Given the description of an element on the screen output the (x, y) to click on. 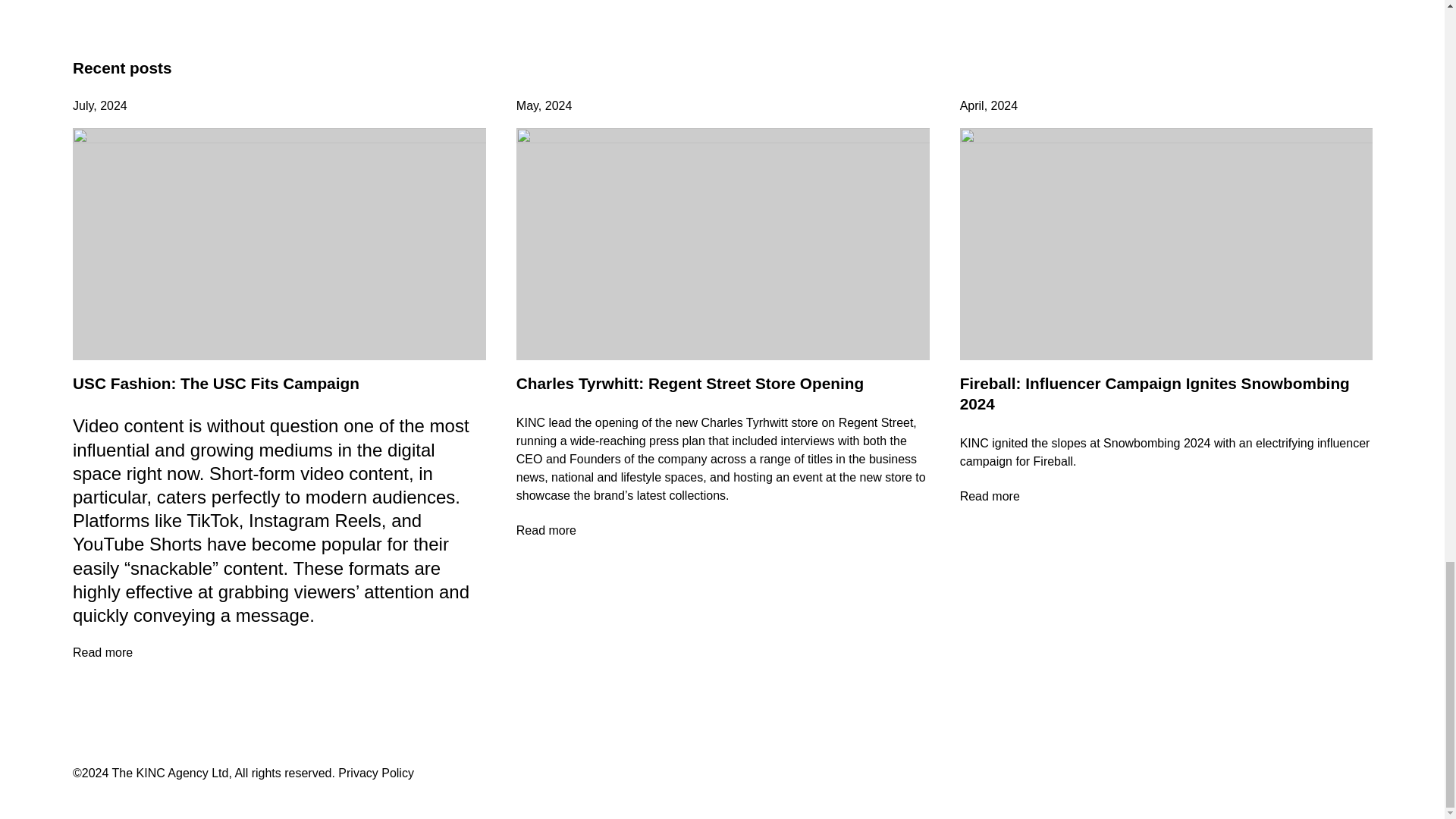
2024 (558, 105)
April (971, 105)
Read more (723, 530)
Privacy Policy (375, 772)
Read more (279, 652)
USC Fashion: The USC Fits Campaign (215, 383)
2024 (1004, 105)
Read more (1166, 496)
July (82, 105)
May (527, 105)
2024 (114, 105)
Fireball: Influencer Campaign Ignites Snowbombing 2024 (1154, 393)
Charles Tyrwhitt: Regent Street Store Opening (689, 383)
